Given the description of an element on the screen output the (x, y) to click on. 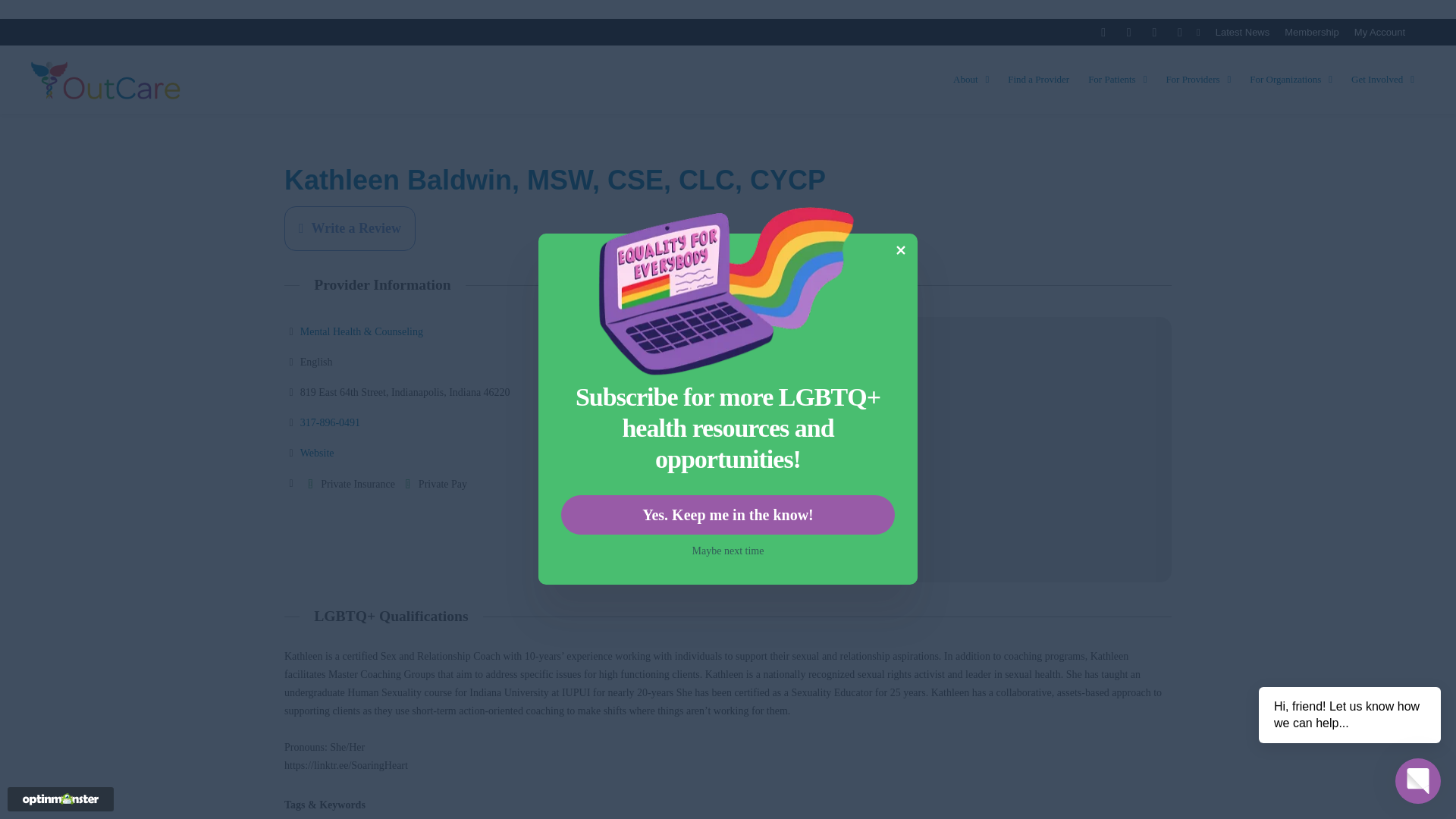
Sexuality (552, 818)
OutCare (106, 79)
LGBTQ Counseling (379, 818)
Latest News (1242, 31)
For Providers (1198, 79)
sexual rights (604, 818)
Find a Provider (1038, 79)
Membership (1311, 31)
relationships (500, 818)
For Patients (1117, 79)
Coaching (448, 818)
counseling (306, 818)
My Account (1379, 31)
Close (900, 250)
sexual education (672, 818)
